Given the description of an element on the screen output the (x, y) to click on. 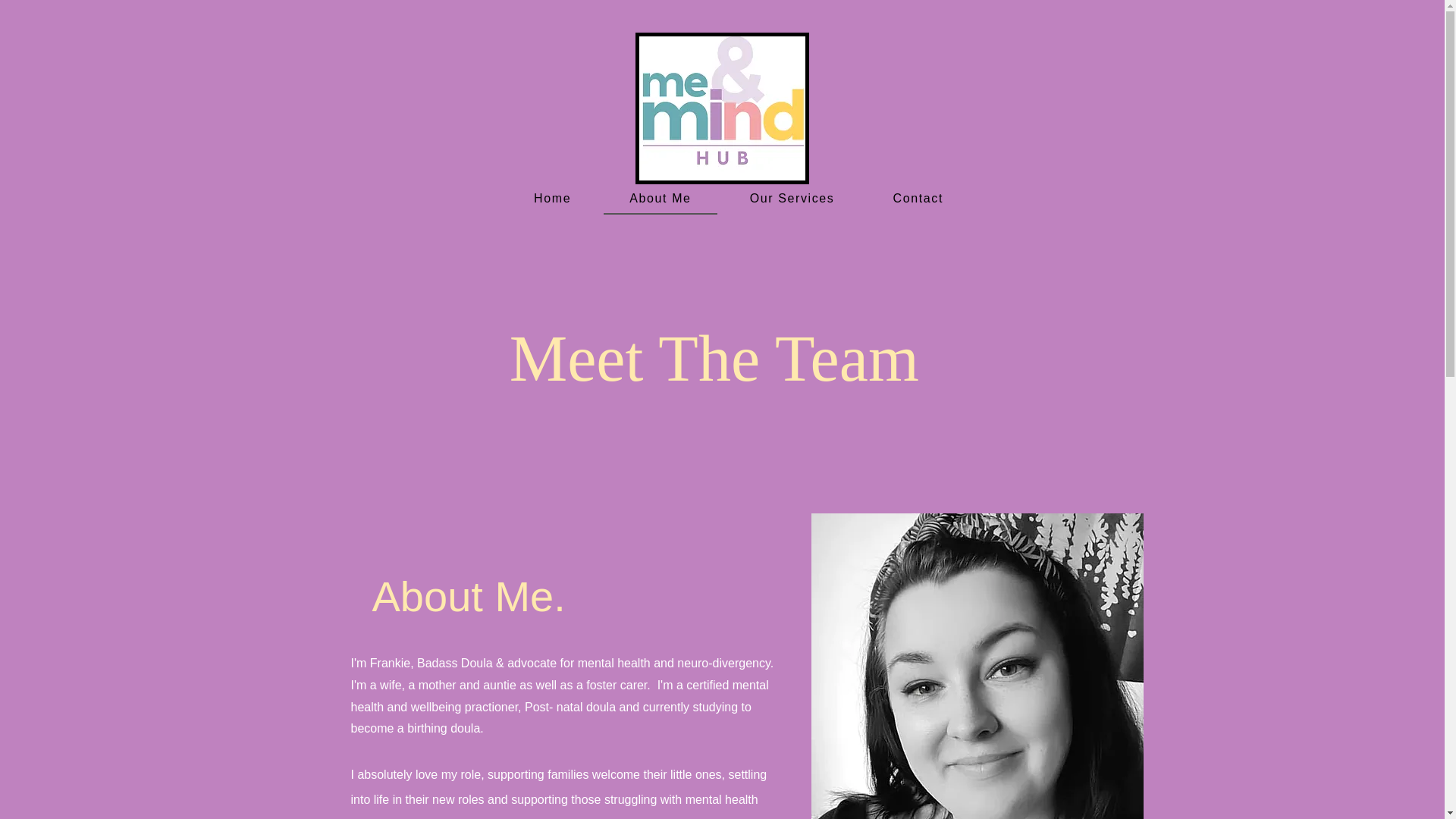
Contact (917, 199)
About Me (682, 196)
Home (552, 199)
Me and Mind HUB Logo jpg.jpg (721, 108)
Home (628, 196)
Contact (816, 196)
Our Services (752, 196)
About Me (660, 199)
Our Services (791, 199)
